Given the description of an element on the screen output the (x, y) to click on. 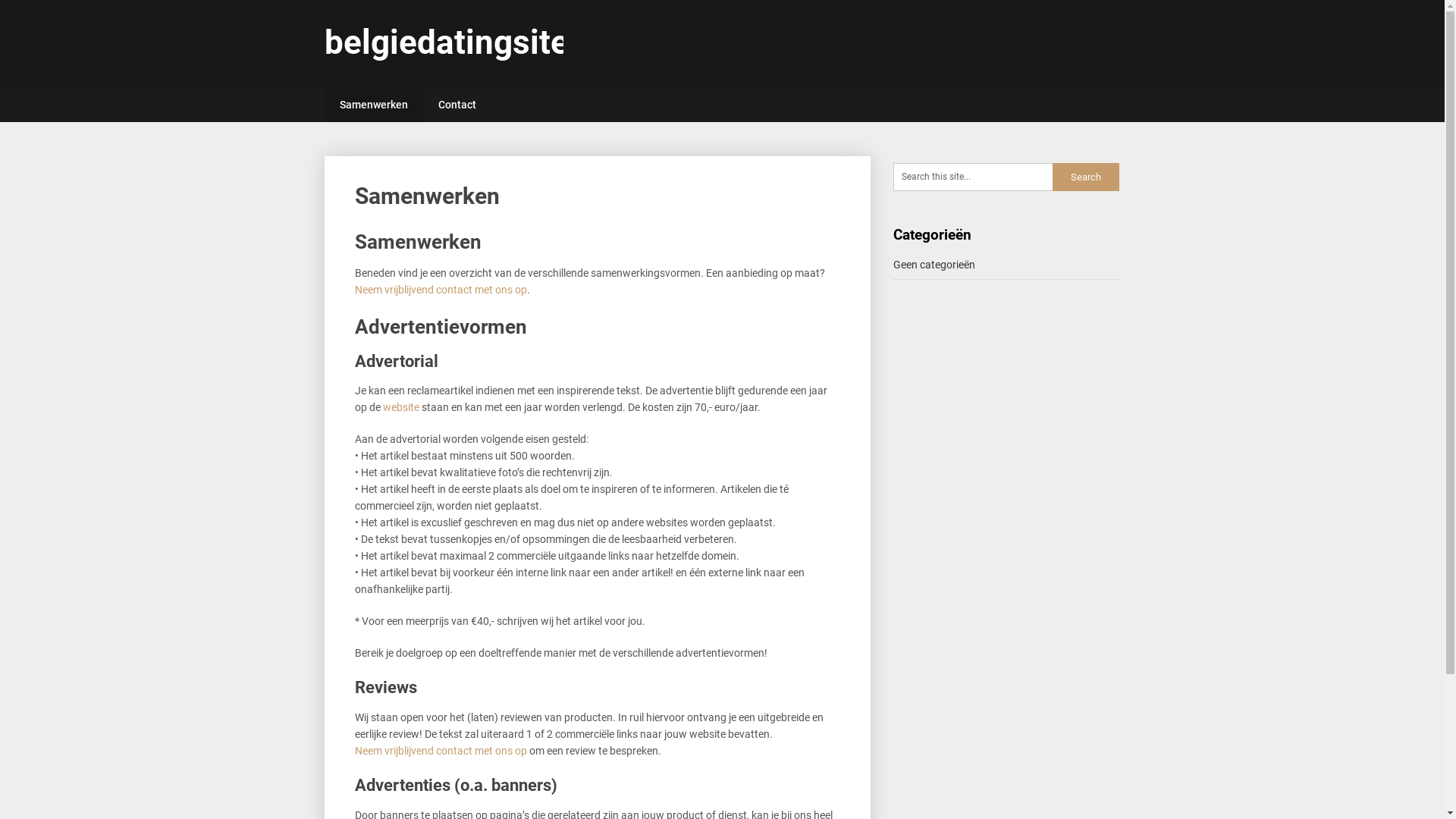
Contact Element type: text (457, 104)
Neem vrijblijvend contact met ons op Element type: text (440, 289)
website Element type: text (400, 407)
Search Element type: text (1086, 177)
Neem vrijblijvend contact met ons op Element type: text (440, 750)
belgiedatingsite.be Element type: text (469, 42)
Samenwerken Element type: text (373, 104)
